Given the description of an element on the screen output the (x, y) to click on. 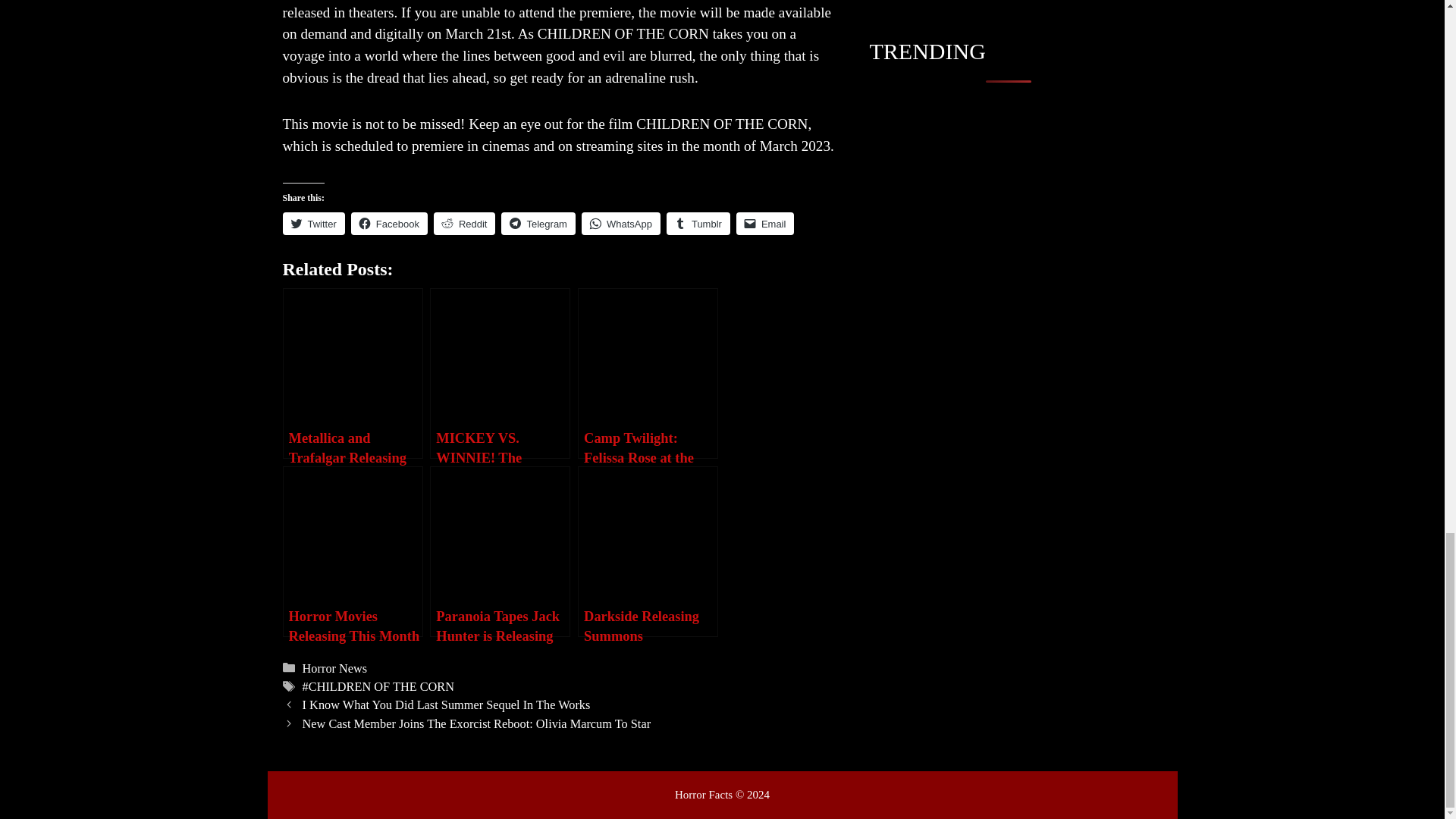
Click to share on Facebook (389, 223)
Click to email a link to a friend (765, 223)
Click to share on Telegram (537, 223)
Click to share on Tumblr (698, 223)
Click to share on Reddit (464, 223)
Click to share on WhatsApp (620, 223)
Click to share on Twitter (312, 223)
